Given the description of an element on the screen output the (x, y) to click on. 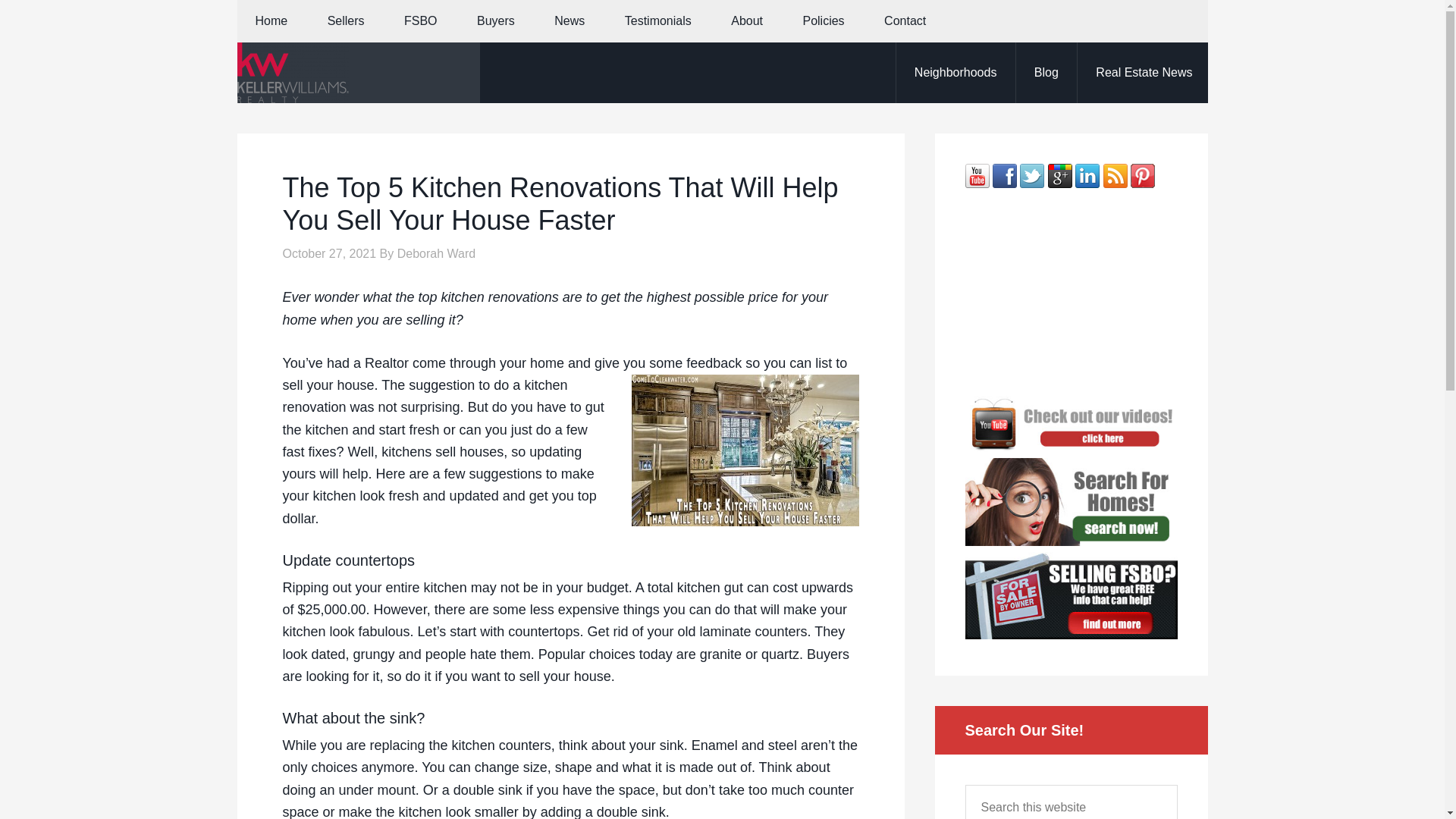
Neighborhoods (954, 72)
Home (270, 21)
Contact (904, 21)
FSBO (420, 21)
Deborah Ward (436, 253)
Blog (1045, 72)
The Deb Ward Team (357, 72)
Real Estate News (1143, 72)
Testimonials (658, 21)
Buyers (495, 21)
Policies (822, 21)
